Given the description of an element on the screen output the (x, y) to click on. 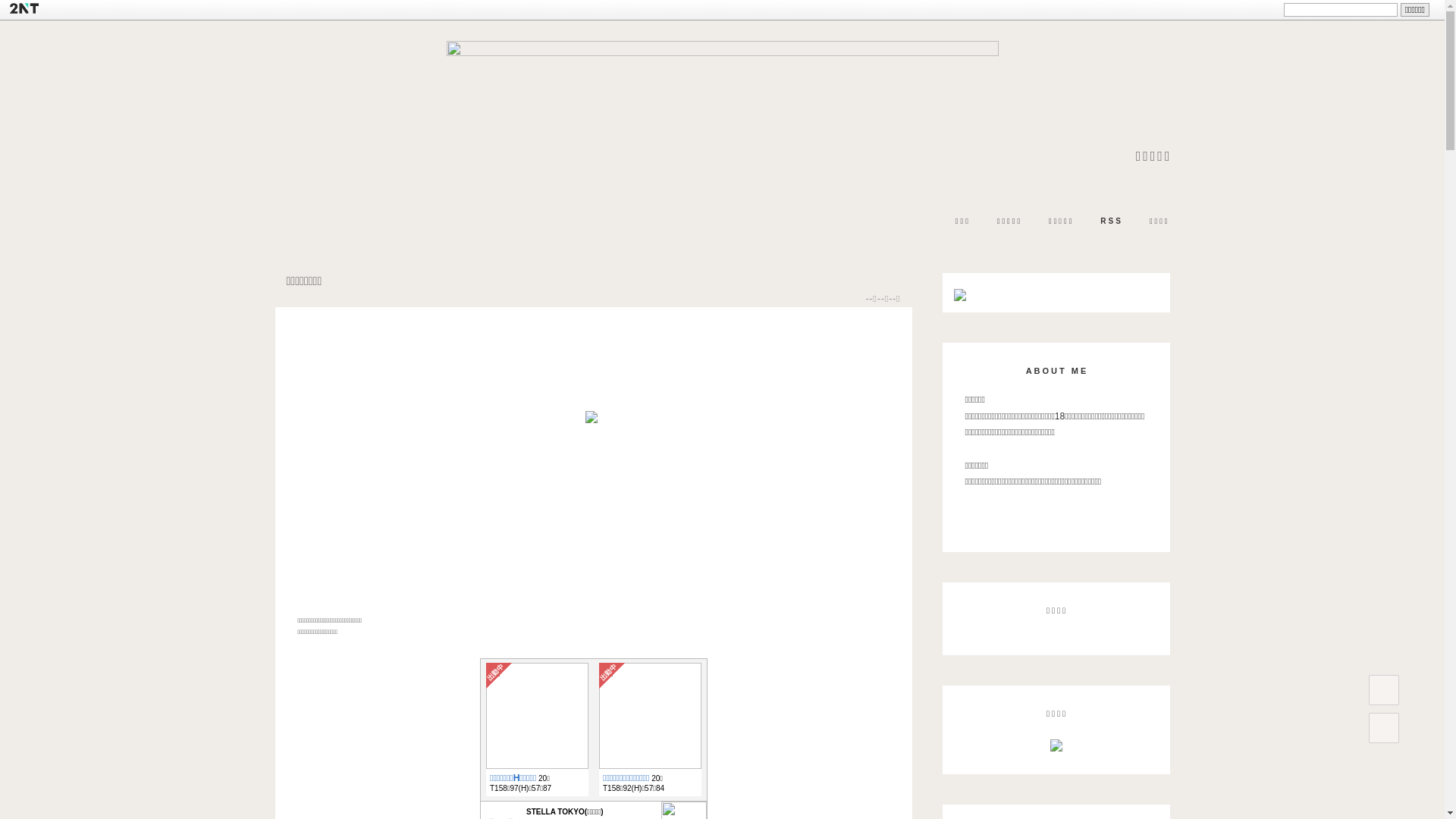
RSS Element type: text (1111, 221)
